Given the description of an element on the screen output the (x, y) to click on. 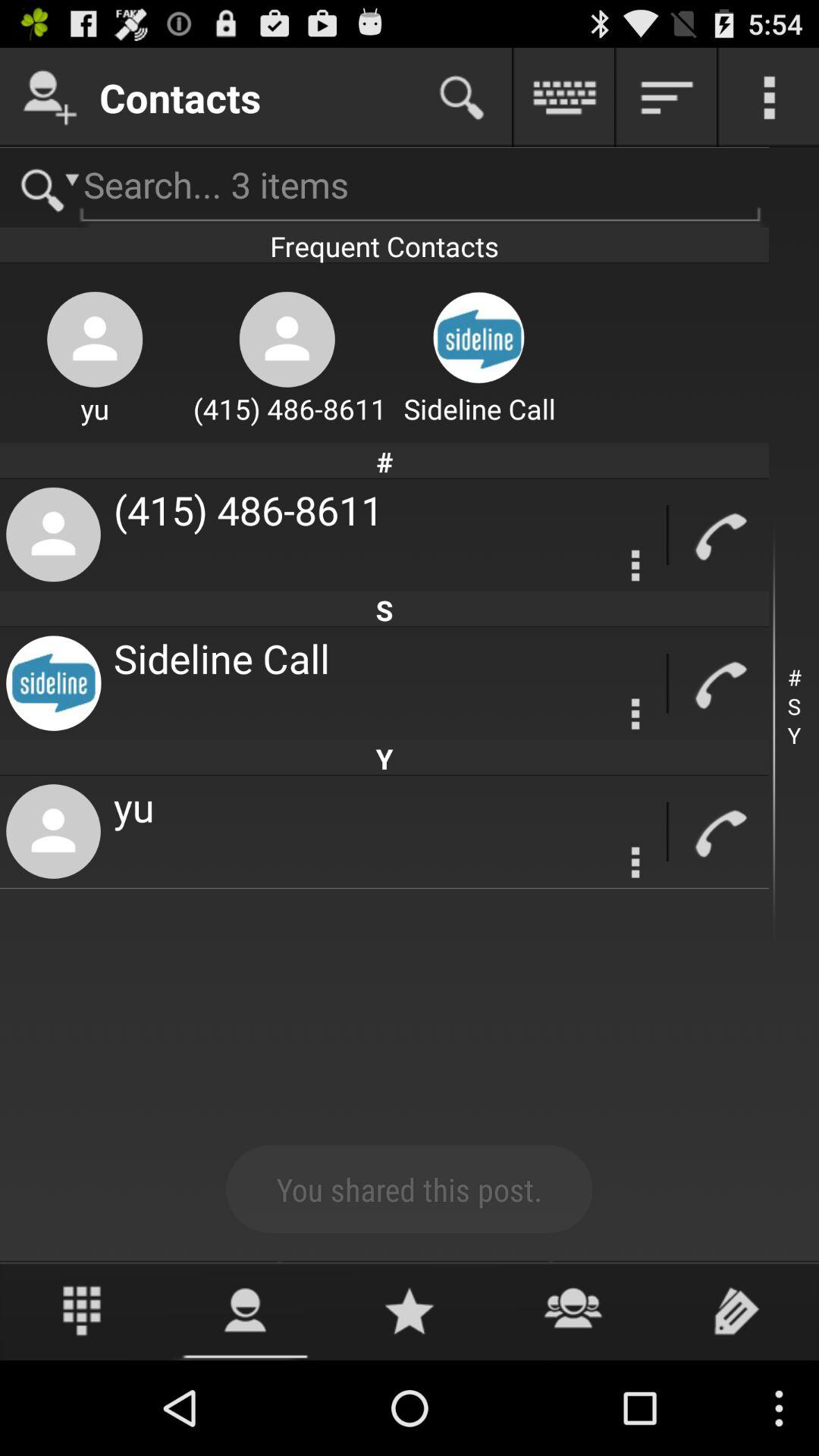
keyboard function (564, 97)
